Given the description of an element on the screen output the (x, y) to click on. 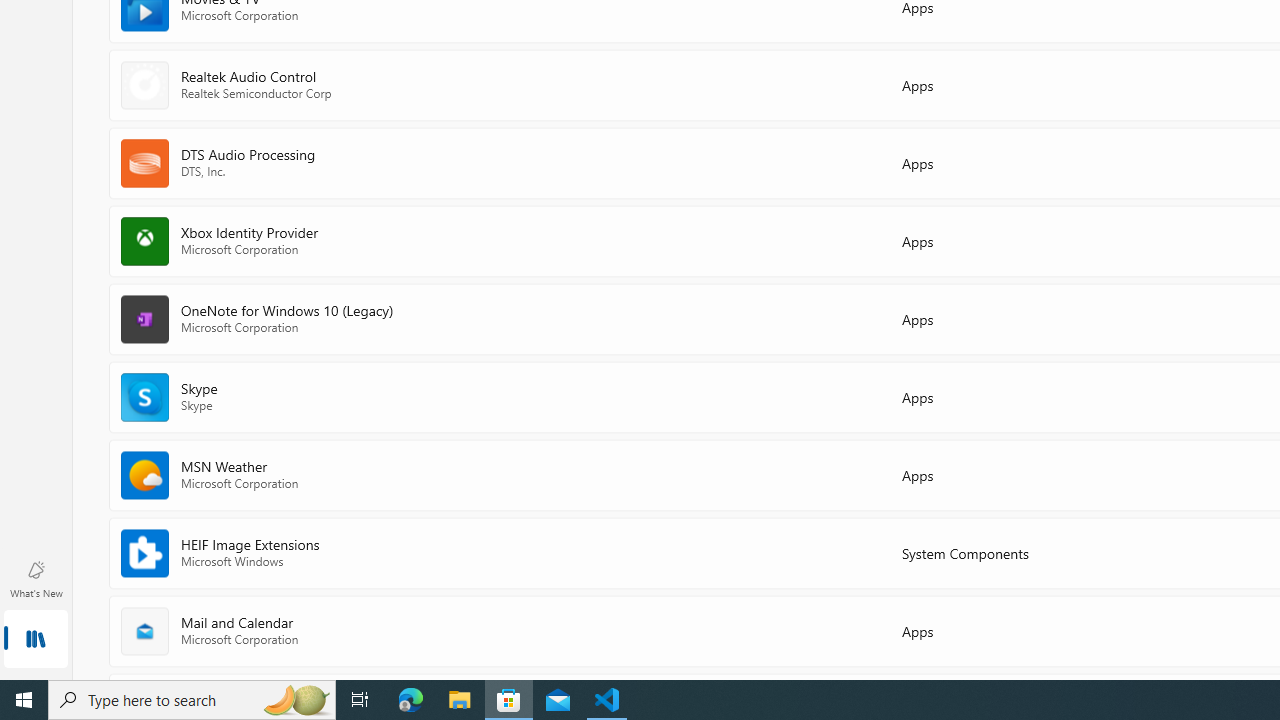
Library (35, 640)
What's New (35, 578)
